Given the description of an element on the screen output the (x, y) to click on. 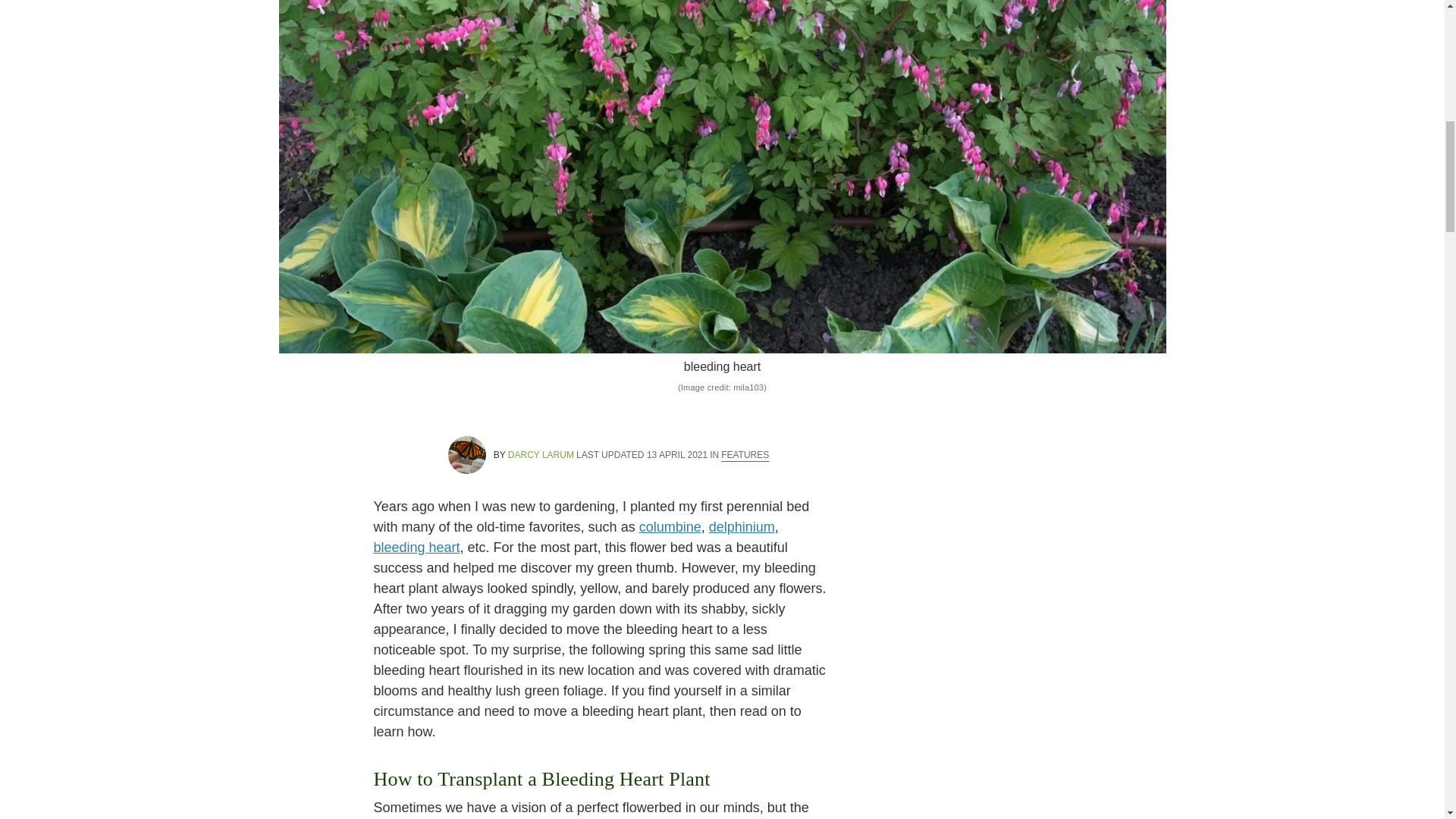
Advertisement (1044, 591)
